Given the description of an element on the screen output the (x, y) to click on. 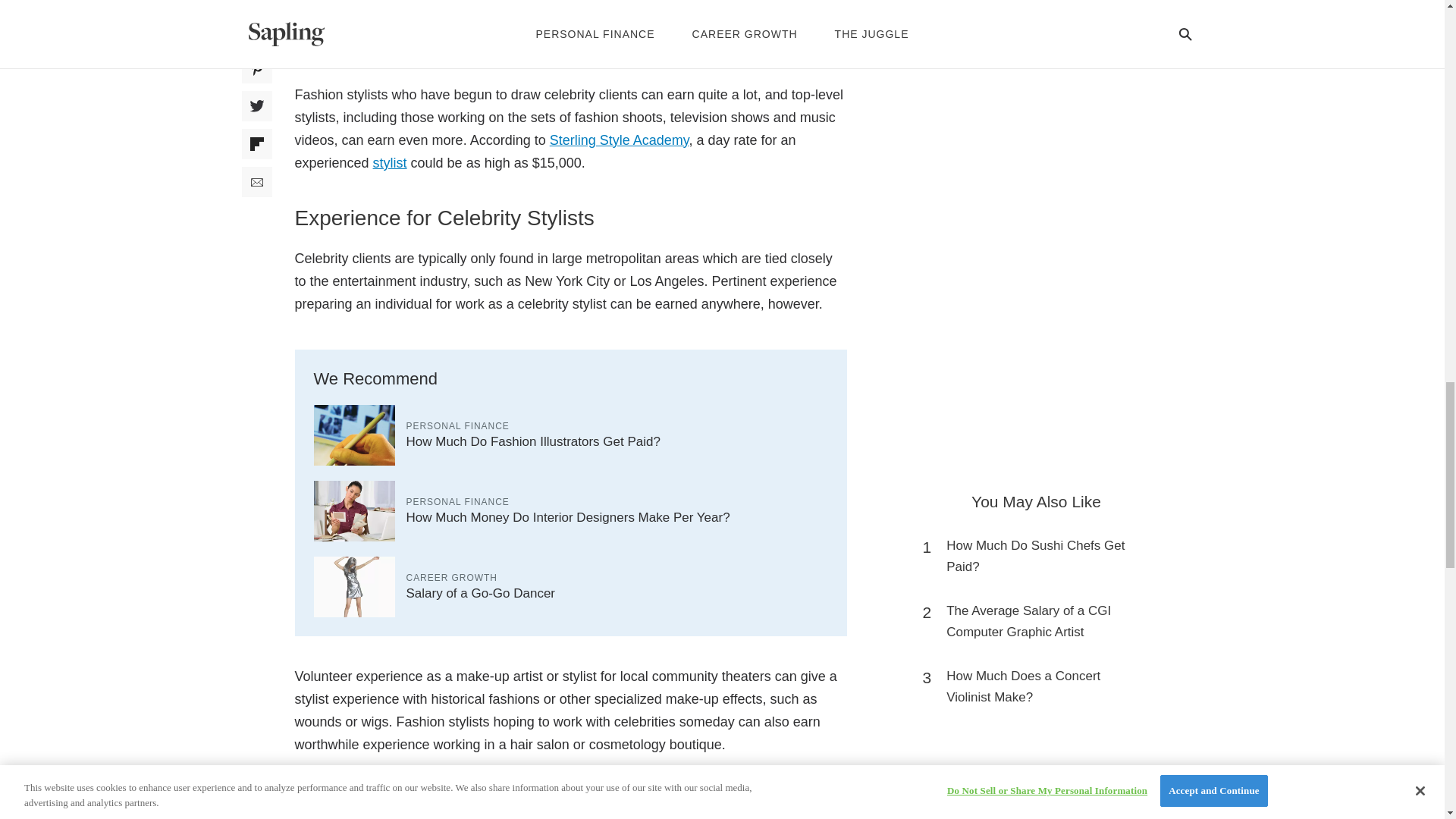
How Much Do Sushi Chefs Get Paid? (1043, 556)
How Much Does a Concert Violinist Make? (1043, 686)
The Average Salary of a CGI Computer Graphic Artist (1043, 621)
